Given the description of an element on the screen output the (x, y) to click on. 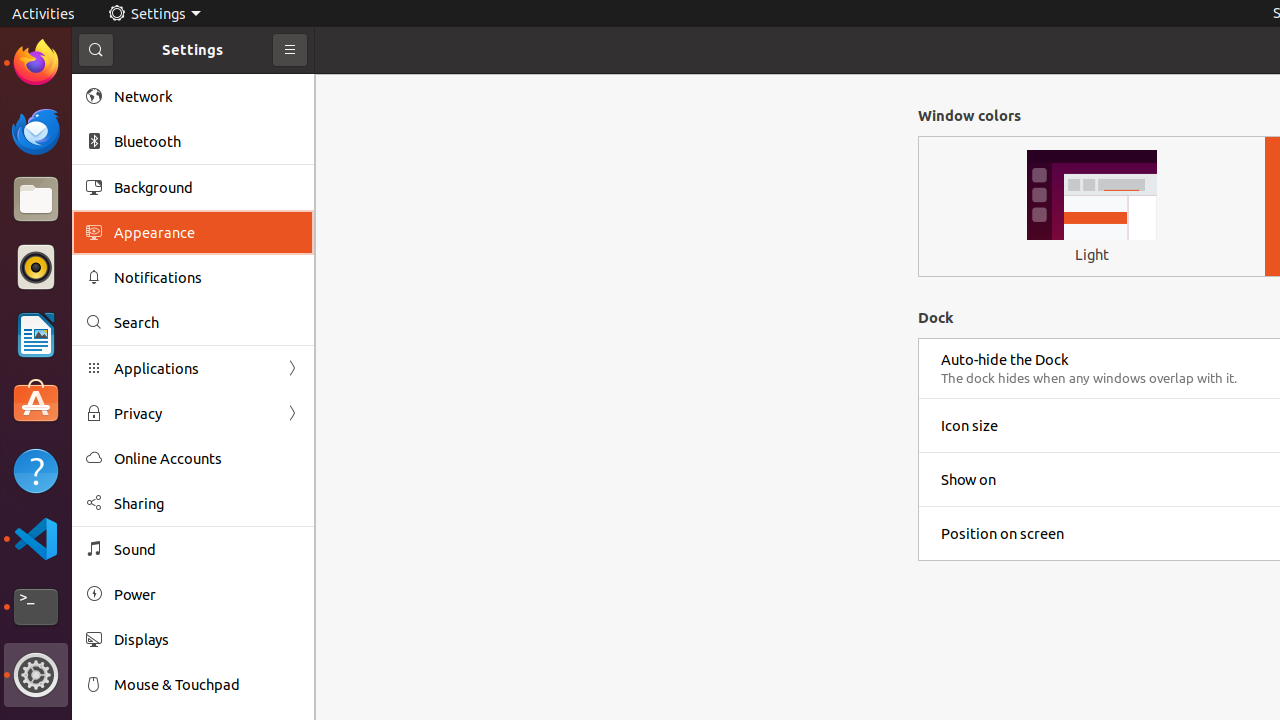
Applications Element type: label (193, 368)
Position on screen Element type: label (1002, 533)
Settings Element type: push-button (36, 675)
Mouse & Touchpad Element type: label (207, 684)
Primary Menu Element type: toggle-button (290, 50)
